Given the description of an element on the screen output the (x, y) to click on. 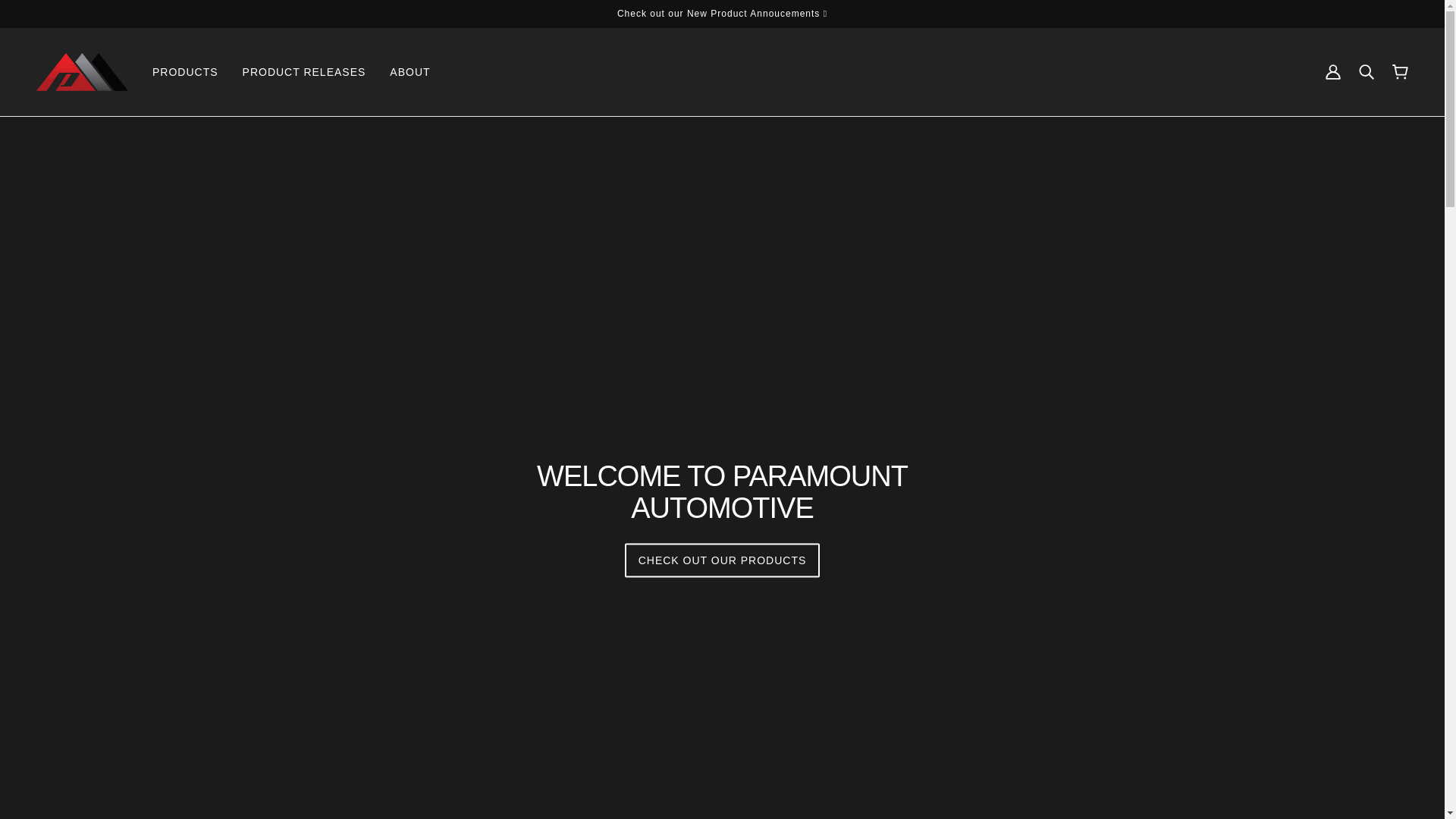
CHECK OUT OUR PRODUCTS (722, 560)
PRODUCT RELEASES (304, 71)
PRODUCTS (184, 71)
ABOUT (409, 71)
Paramount Automotive (82, 71)
